Given the description of an element on the screen output the (x, y) to click on. 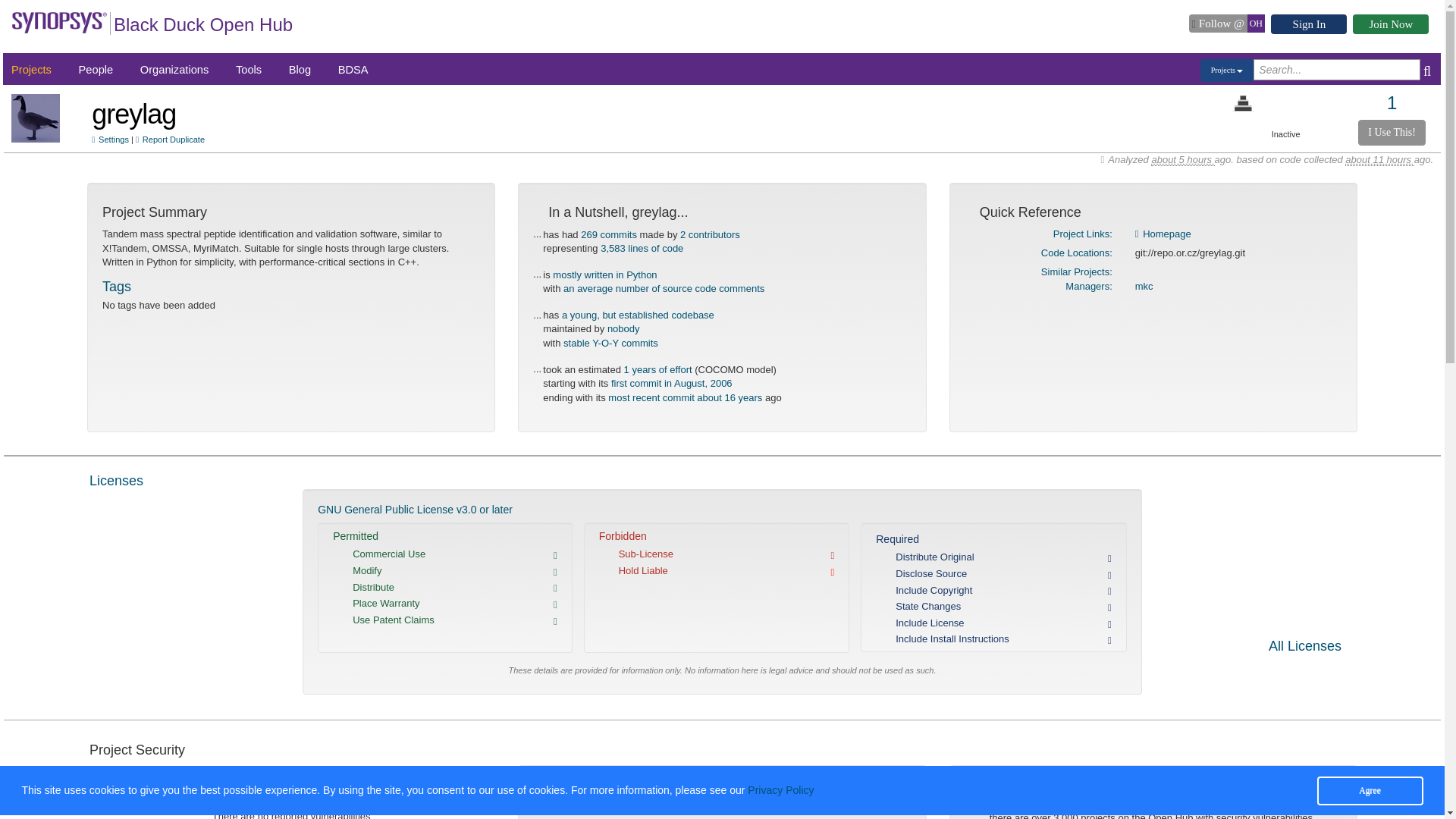
 Settings (110, 139)
Project Links: (1082, 233)
Homepage (1163, 233)
Code Locations: (1076, 252)
Projects (30, 69)
Join Now (1390, 24)
Tools (248, 69)
greylag (133, 113)
 Report Duplicate (170, 139)
People (95, 69)
